Given the description of an element on the screen output the (x, y) to click on. 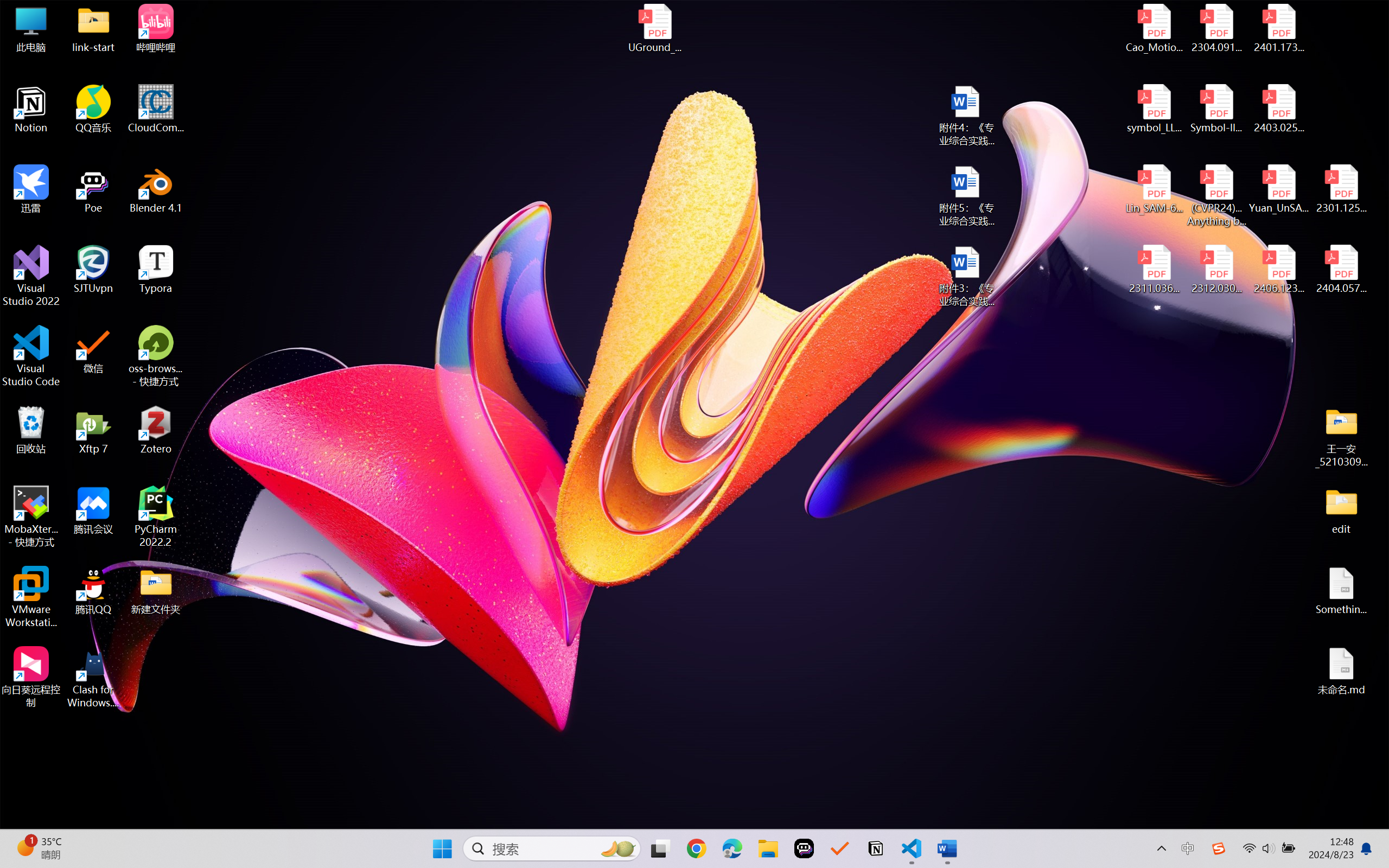
UGround_paper.pdf (654, 28)
Typora (156, 269)
Blender 4.1 (156, 189)
2401.17399v1.pdf (1278, 28)
Visual Studio 2022 (31, 276)
